Given the description of an element on the screen output the (x, y) to click on. 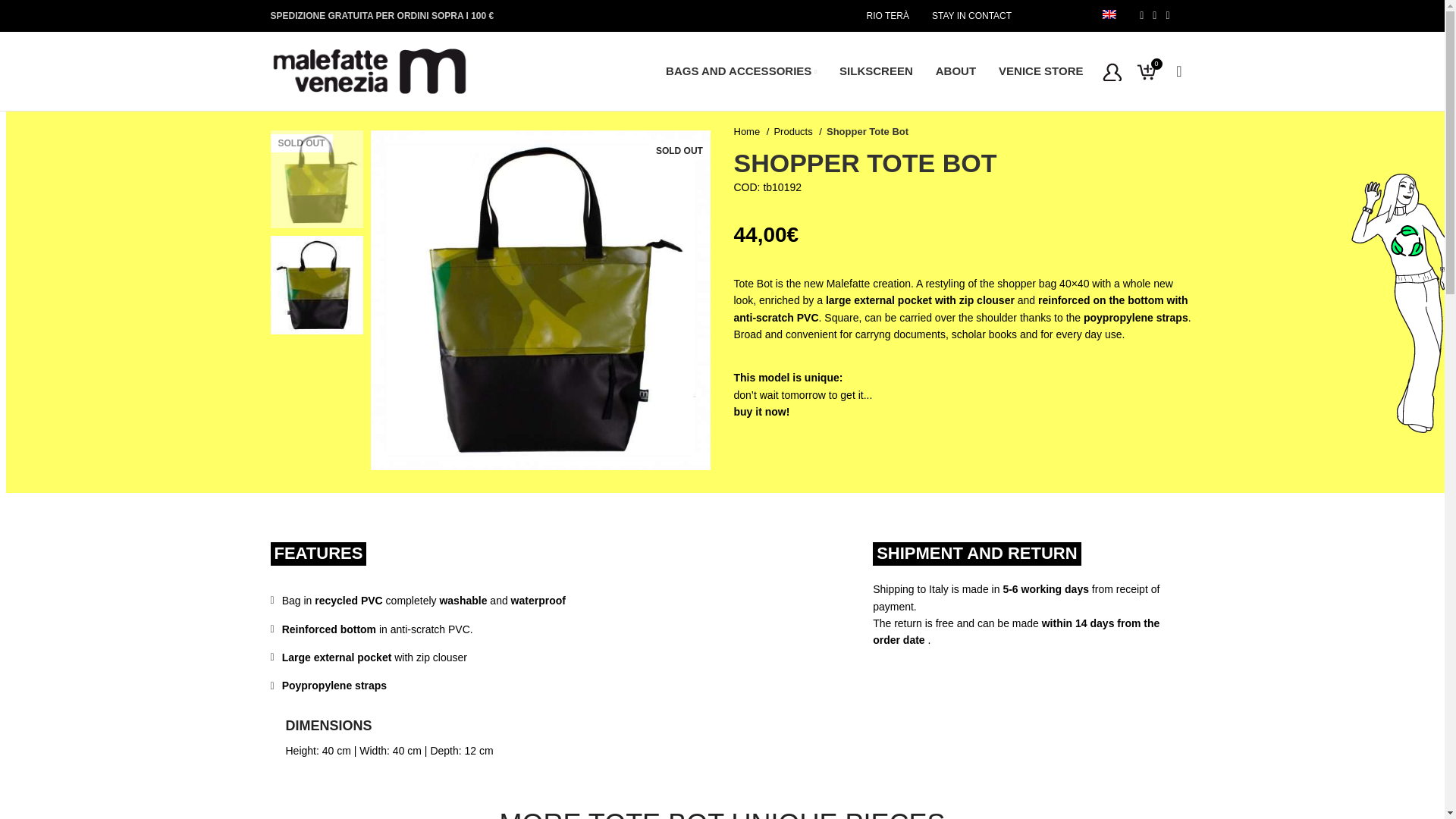
tote9 (539, 300)
STAY IN CONTACT (971, 15)
VENICE STORE (1040, 71)
Log in (995, 312)
SILKSCREEN (876, 71)
ABOUT (955, 71)
BAGS AND ACCESSORIES (741, 71)
0 (1144, 71)
Shopping cart (1144, 71)
My account (1111, 71)
